Given the description of an element on the screen output the (x, y) to click on. 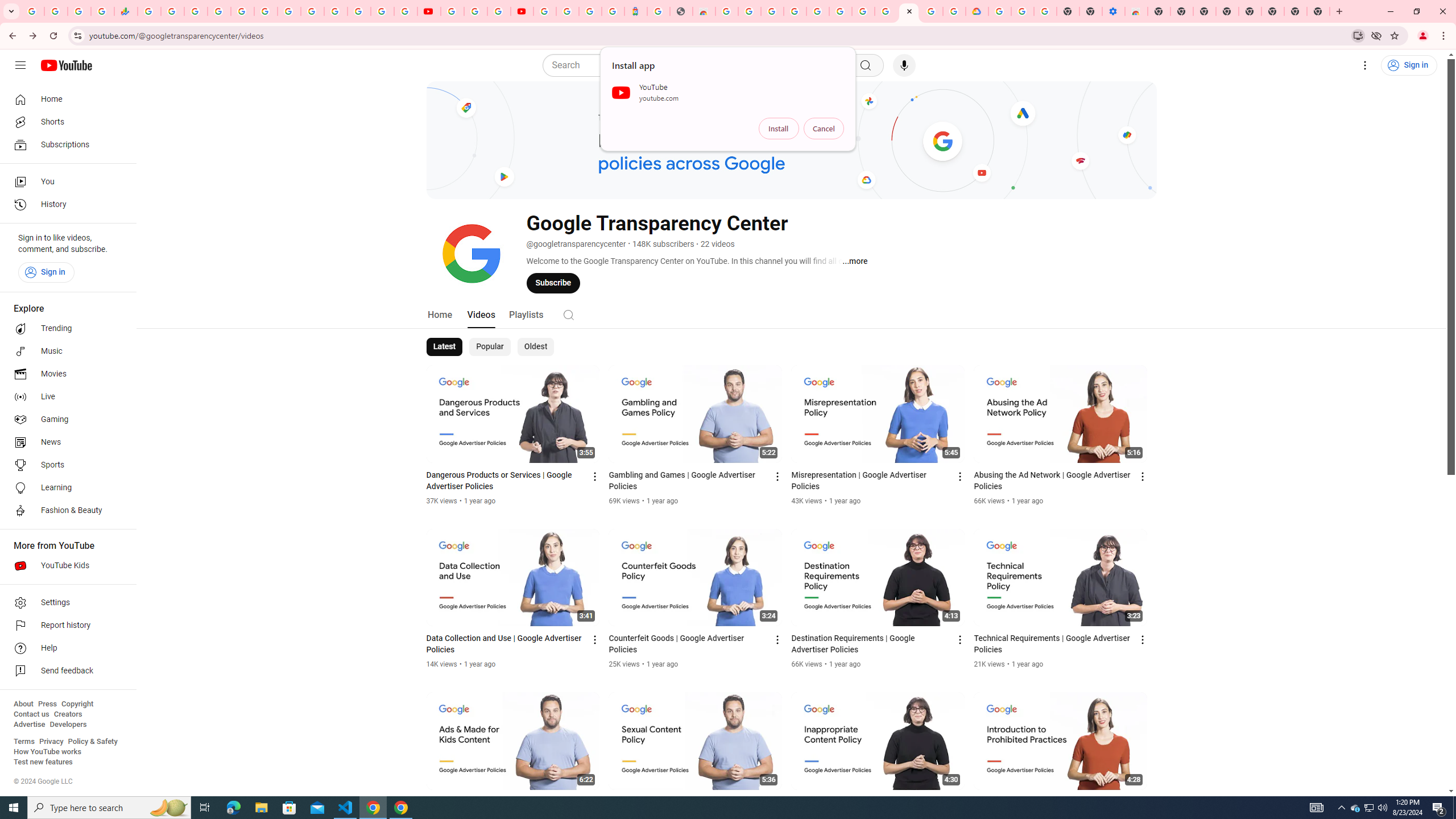
Create your Google Account (749, 11)
Subscribe (552, 282)
Settings (64, 602)
Developers (68, 724)
Movies (64, 373)
Subscriptions (64, 144)
Press (46, 703)
YouTube (428, 11)
